Given the description of an element on the screen output the (x, y) to click on. 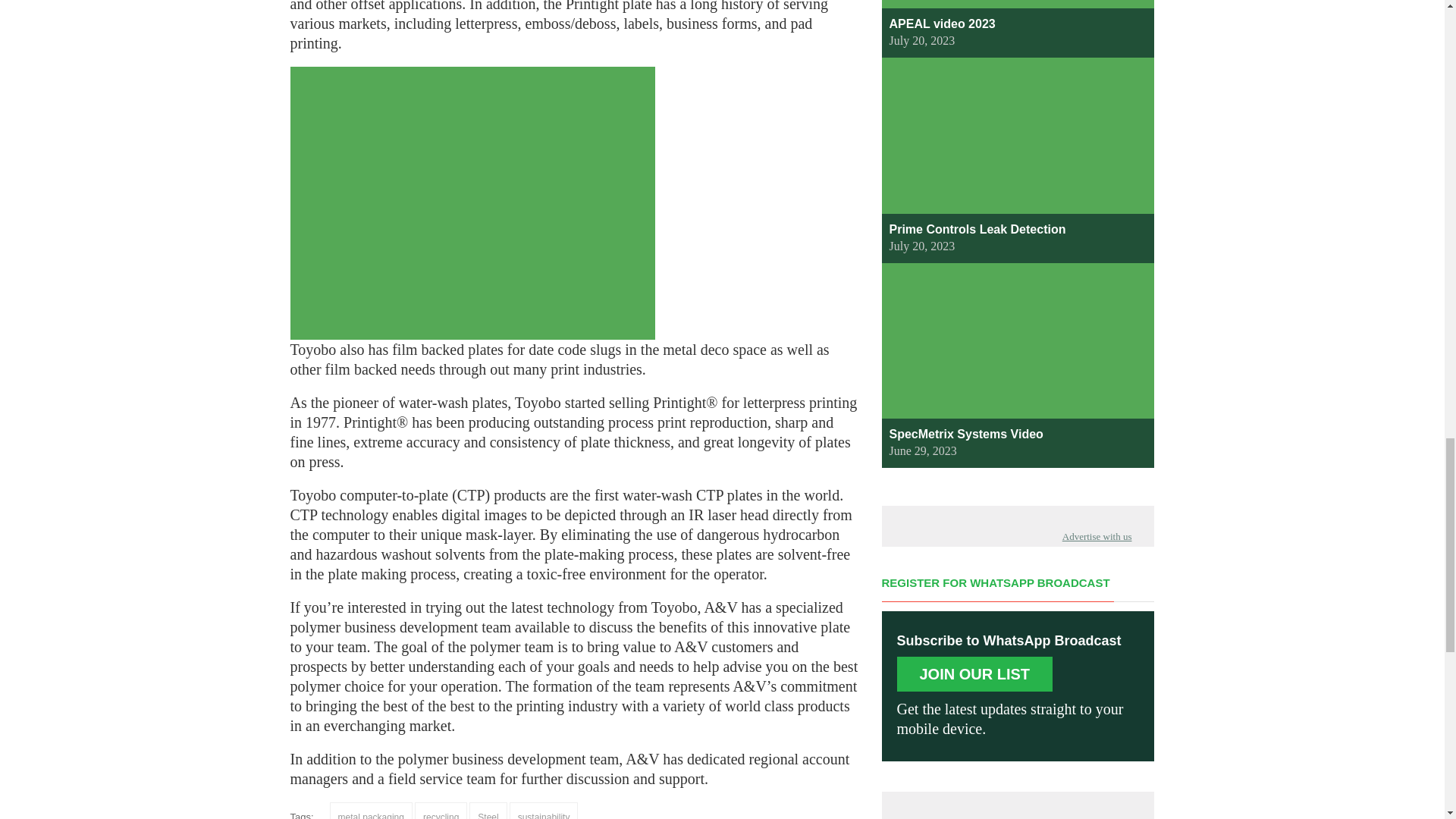
metal packaging (371, 810)
sustainability (543, 810)
recycling (440, 810)
Steel (487, 810)
